Given the description of an element on the screen output the (x, y) to click on. 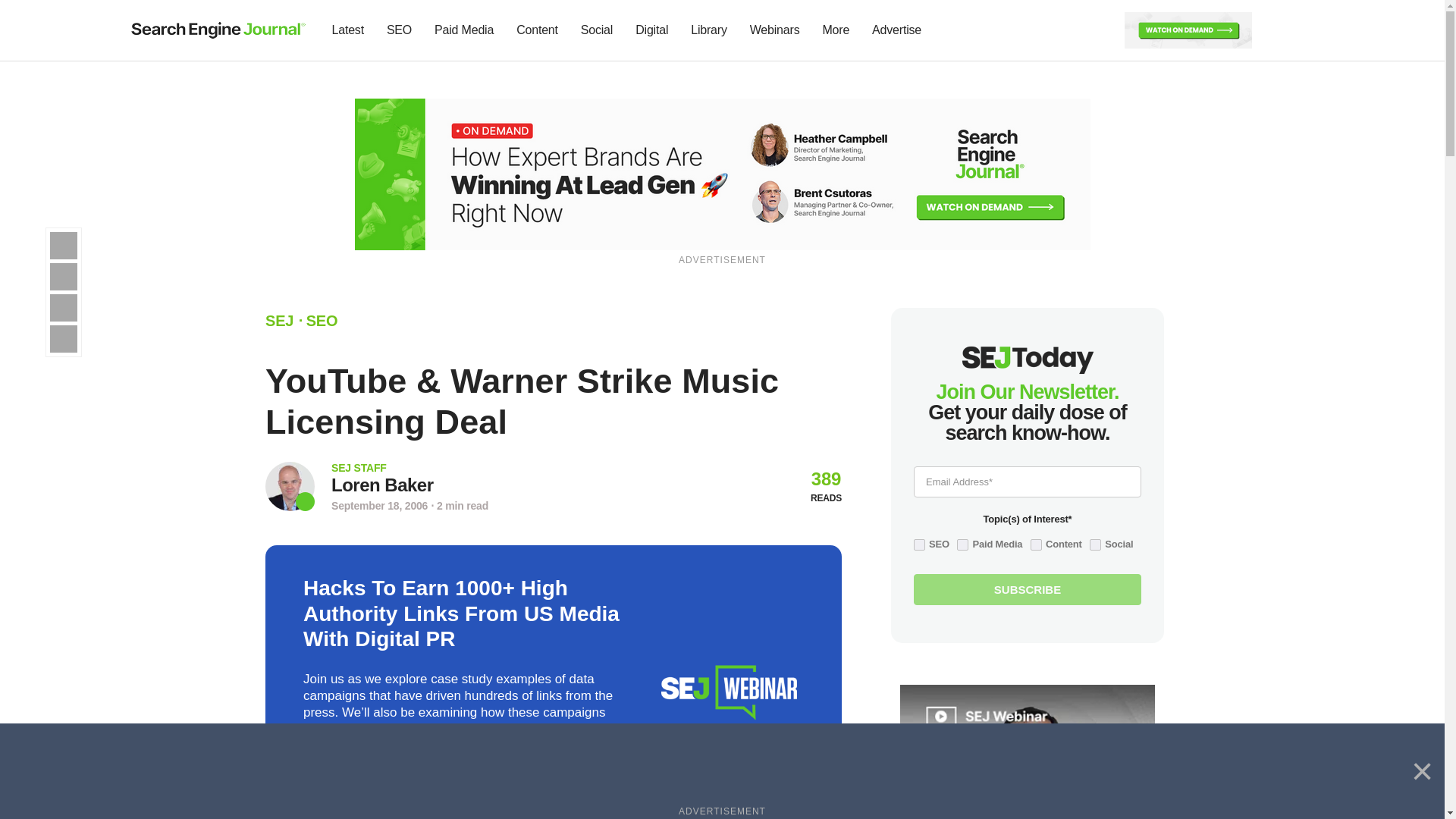
Paid Media (464, 30)
Latest (347, 30)
Subscribe to our Newsletter (1277, 30)
Go to Author Page (289, 486)
Go to Author Page (382, 485)
Register Now (1187, 28)
Register Now (722, 172)
